Given the description of an element on the screen output the (x, y) to click on. 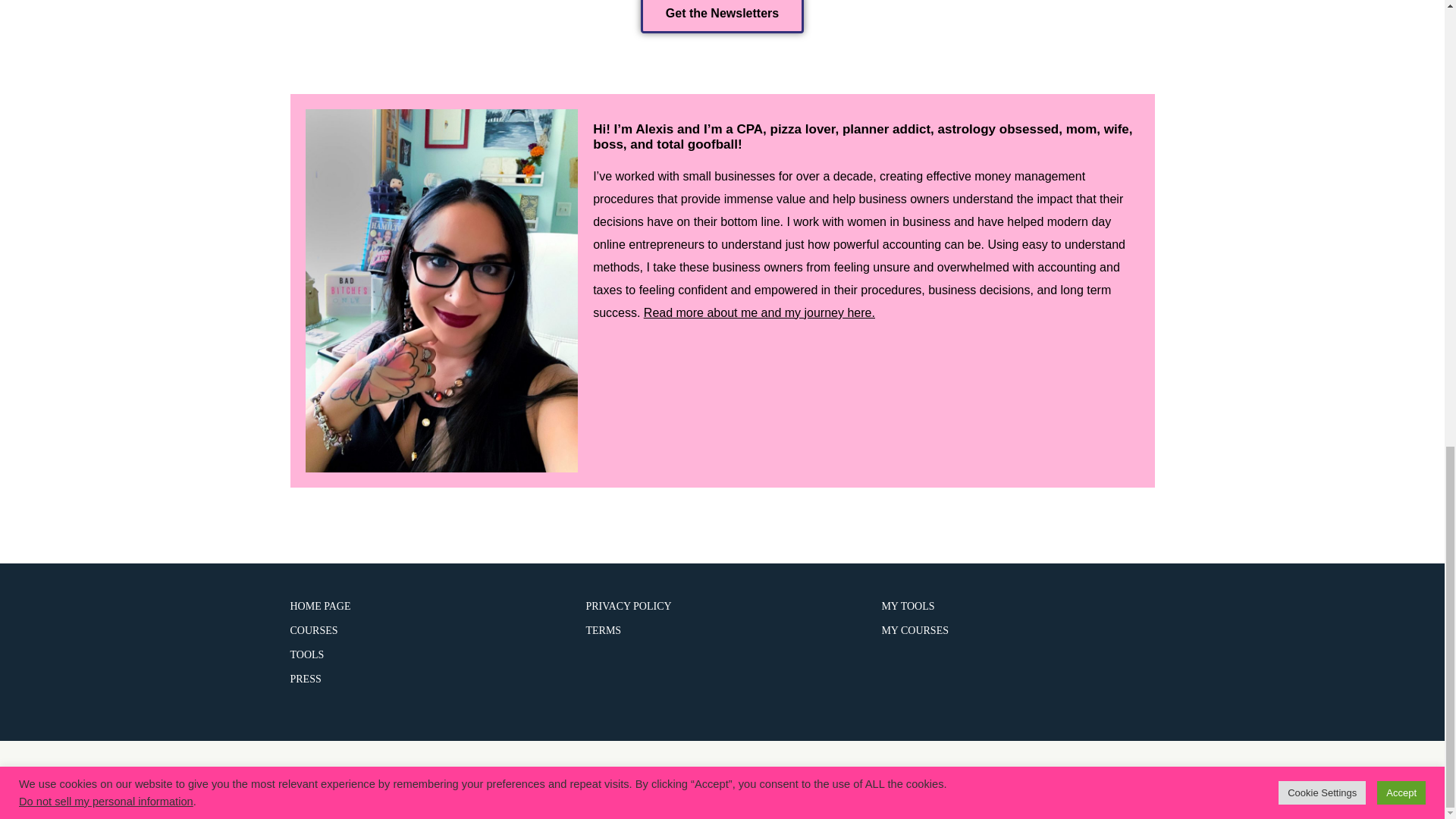
MY TOOLS (907, 605)
PRIVACY POLICY (628, 605)
HOME PAGE (319, 605)
PRESS (304, 678)
Ultimate Architect (640, 776)
MY COURSES (914, 630)
COURSES (313, 630)
Read more about me and my journey here. (759, 312)
TOOLS (306, 654)
Pink Moon Financial, LLC (835, 776)
TERMS (603, 630)
Get the Newsletters (721, 16)
